Given the description of an element on the screen output the (x, y) to click on. 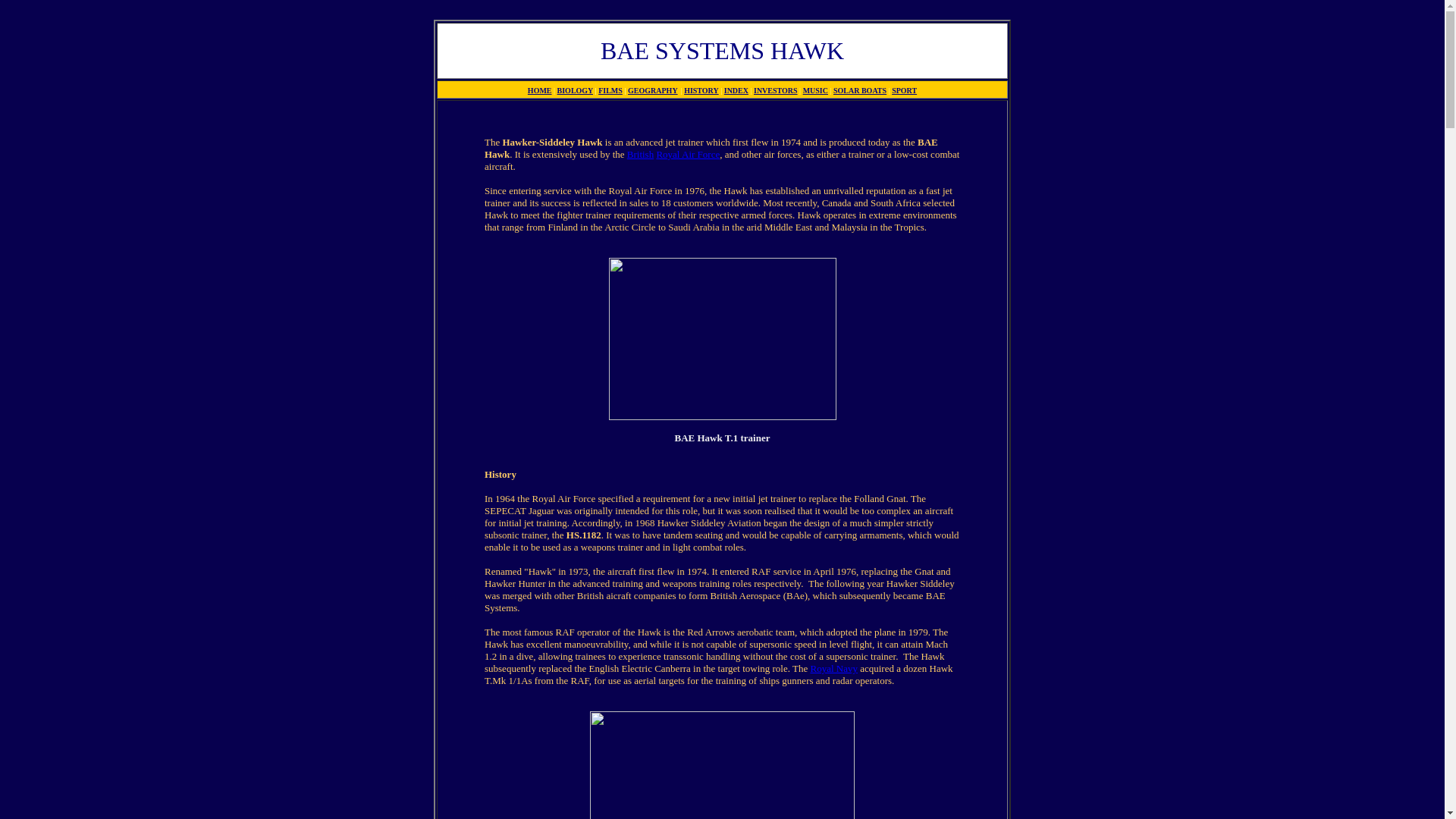
INVESTORS (775, 90)
British (640, 153)
Royal Navy (833, 668)
GEOGRAPHY (652, 90)
Royal Air Force (687, 153)
HOME (539, 90)
United Kingdom (640, 153)
MUSIC (815, 90)
BIOLOGY (574, 90)
SPORT (904, 90)
